Given the description of an element on the screen output the (x, y) to click on. 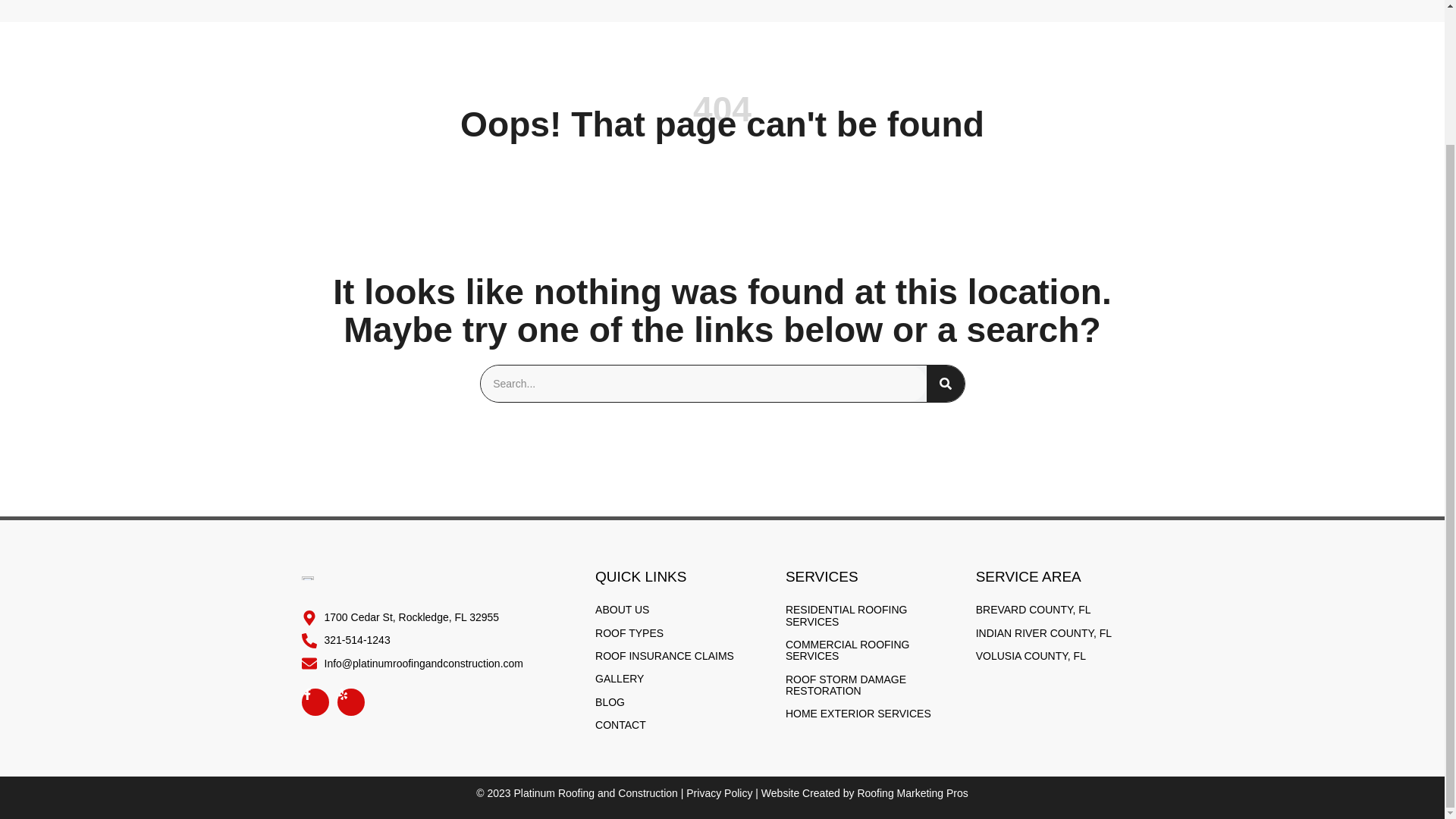
ABOUT US (403, 5)
GALLERY (959, 5)
ROOF TYPES (588, 5)
LOCATIONS (869, 5)
CONTACT (1107, 5)
HOME (327, 5)
BLOG (1032, 5)
SERVICES (492, 5)
ROOF INSURANCE CLAIMS (730, 5)
